Given the description of an element on the screen output the (x, y) to click on. 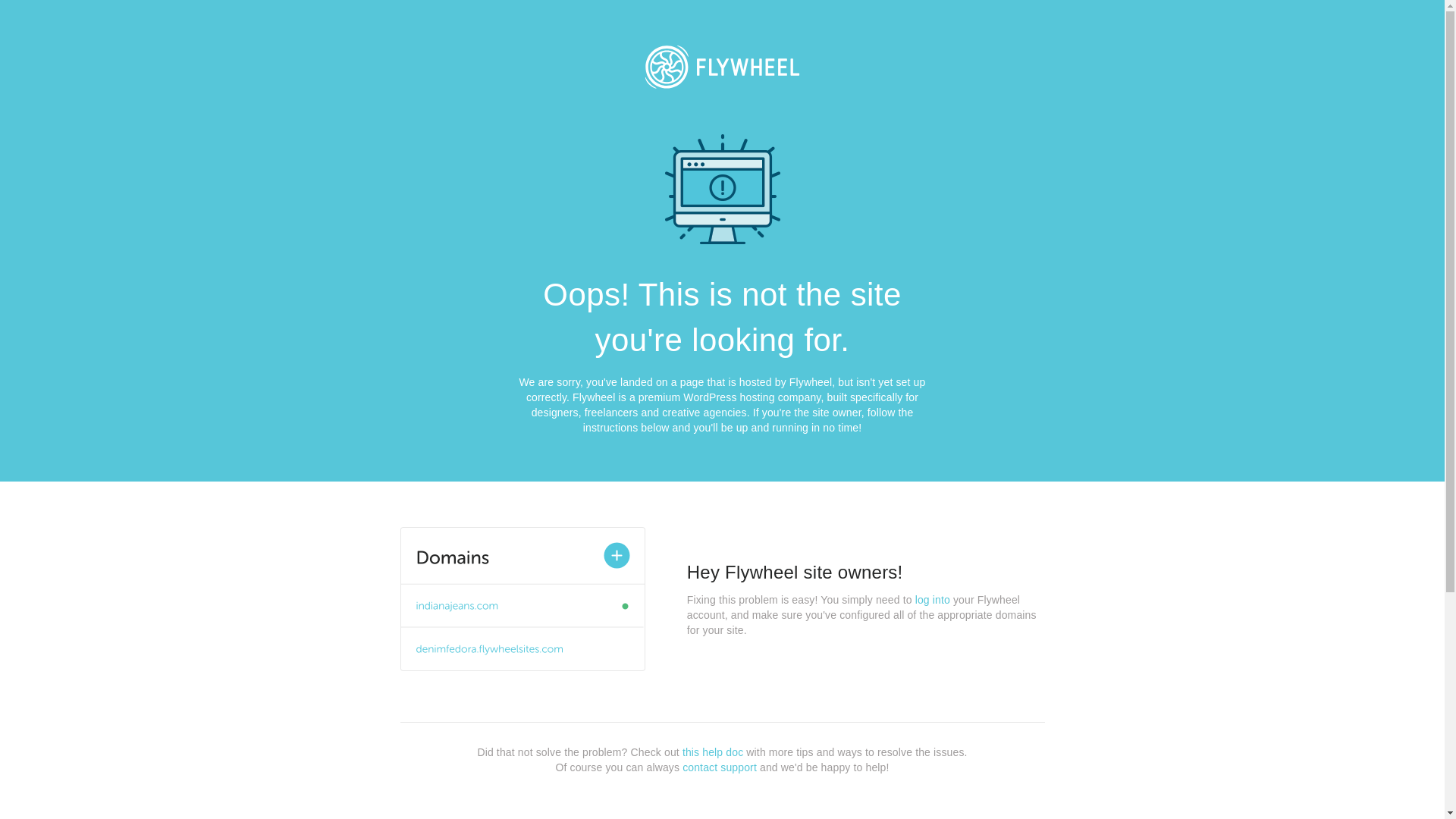
log into (932, 599)
this help doc (712, 752)
contact support (719, 767)
